Given the description of an element on the screen output the (x, y) to click on. 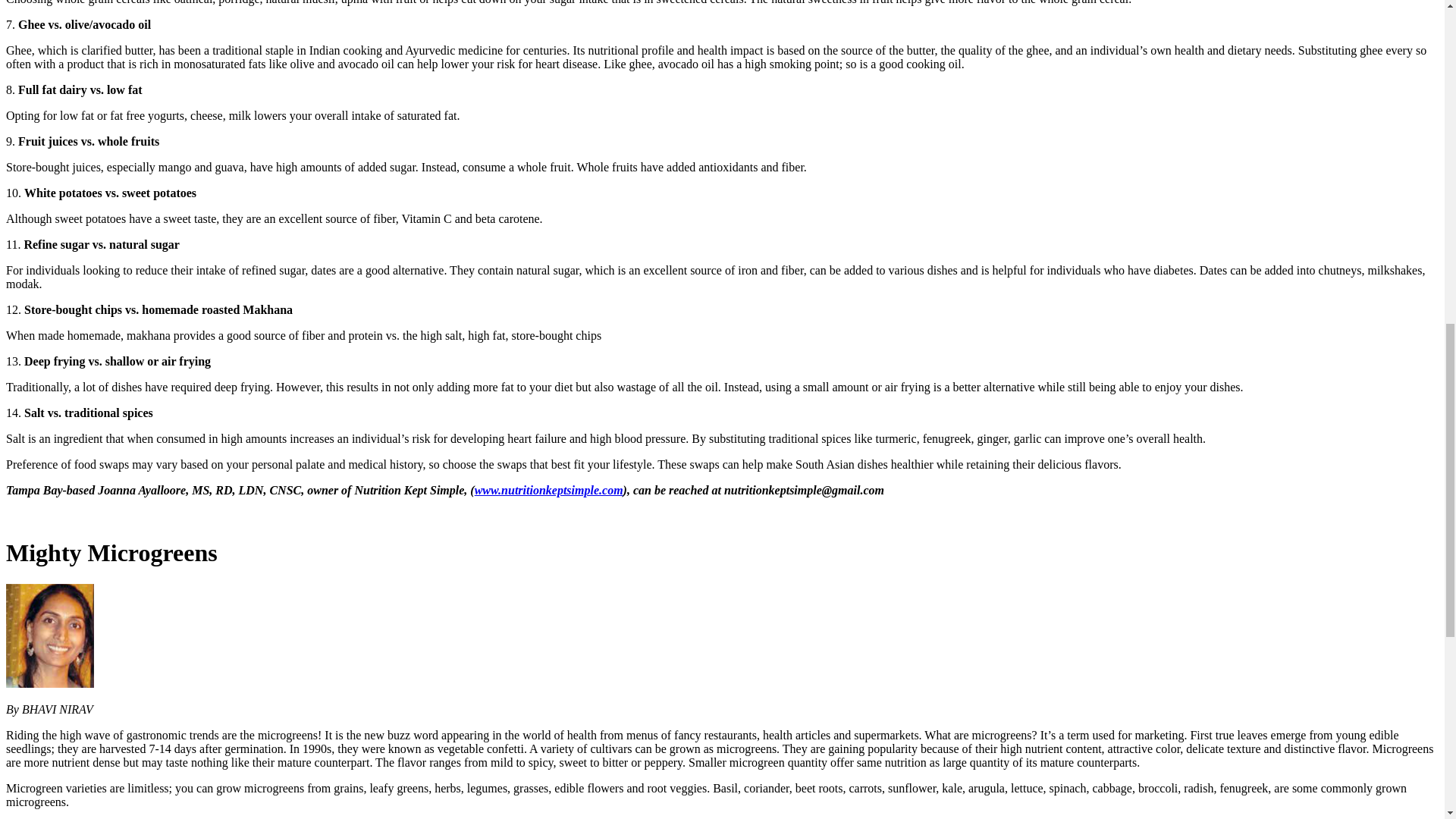
www.nutritionkeptsimple.com (548, 490)
